Given the description of an element on the screen output the (x, y) to click on. 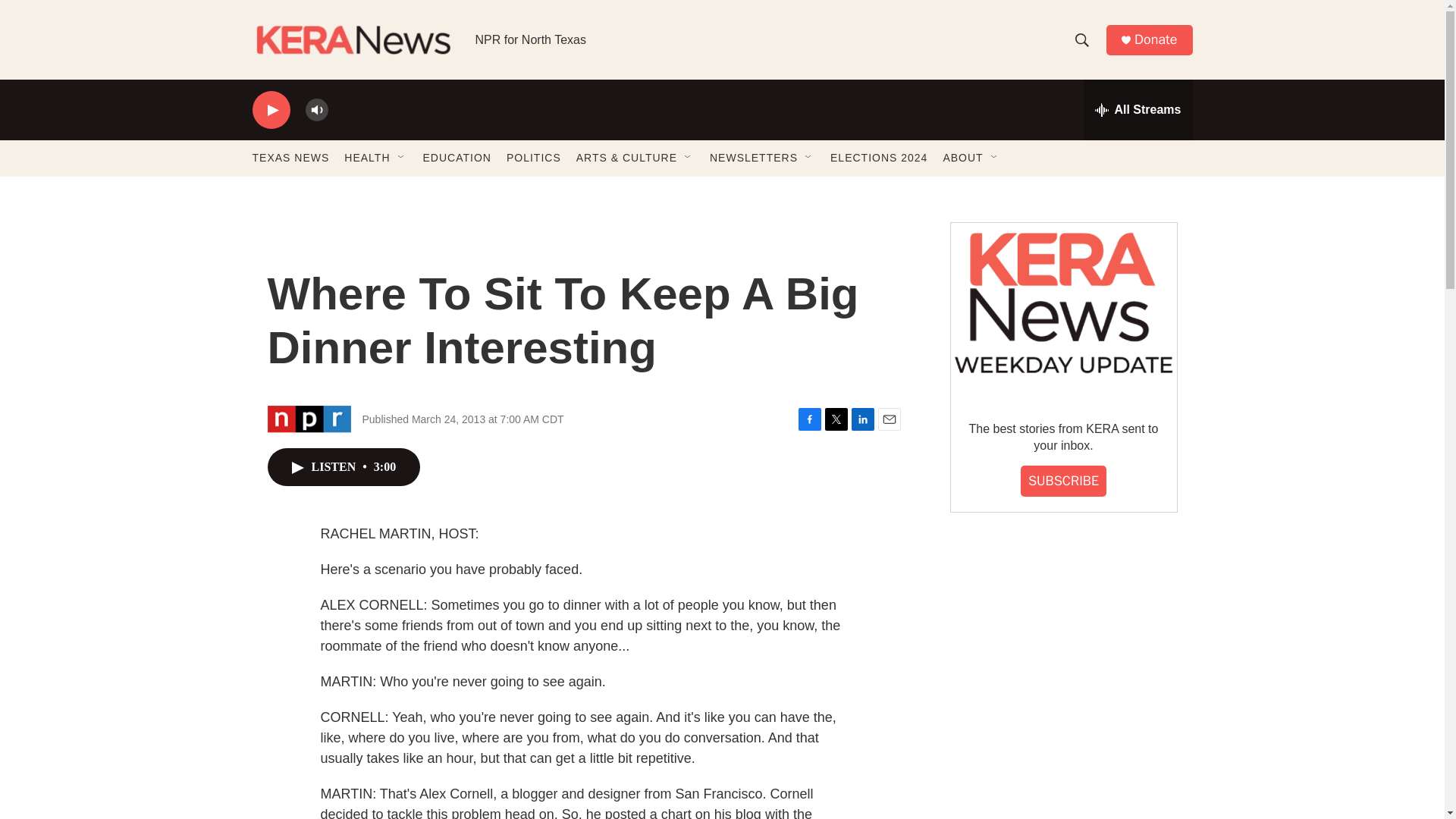
Show Search (1081, 39)
